Given the description of an element on the screen output the (x, y) to click on. 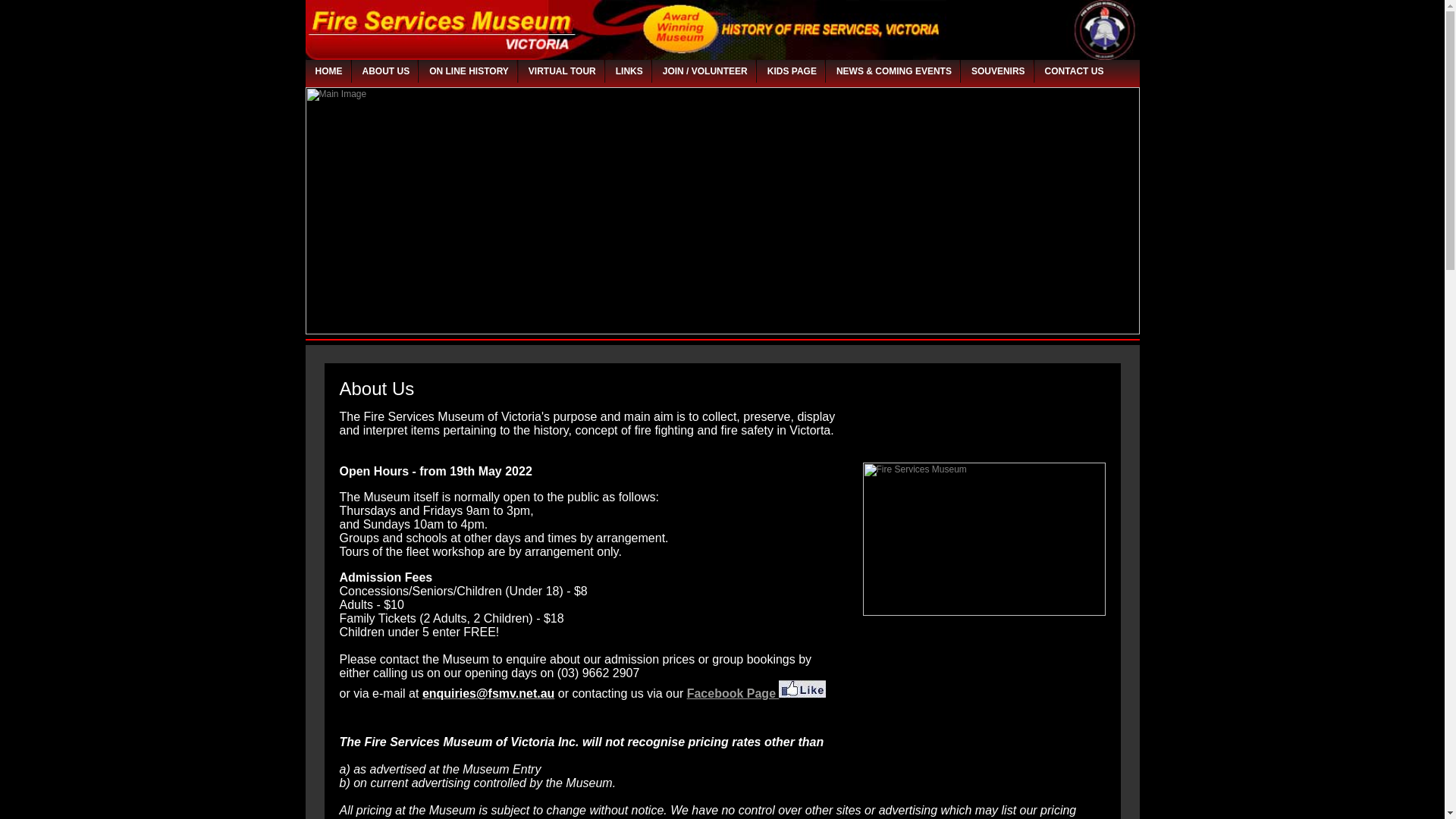
enquiries@fsmv.net.au Element type: text (488, 694)
KIDS PAGE Element type: text (791, 70)
NEWS & COMING EVENTS Element type: text (893, 70)
Logo Element type: hover (721, 29)
LINKS Element type: text (629, 70)
ABOUT US Element type: text (386, 70)
HOME Element type: text (328, 70)
JOIN / VOLUNTEER Element type: text (704, 70)
Facebook Page Element type: text (756, 694)
VIRTUAL TOUR Element type: text (562, 70)
Main Image Element type: hover (721, 210)
Fire Services Museum Element type: hover (983, 538)
ON LINE HISTORY Element type: text (468, 70)
SOUVENIRS Element type: text (998, 70)
CONTACT US Element type: text (1074, 70)
